Given the description of an element on the screen output the (x, y) to click on. 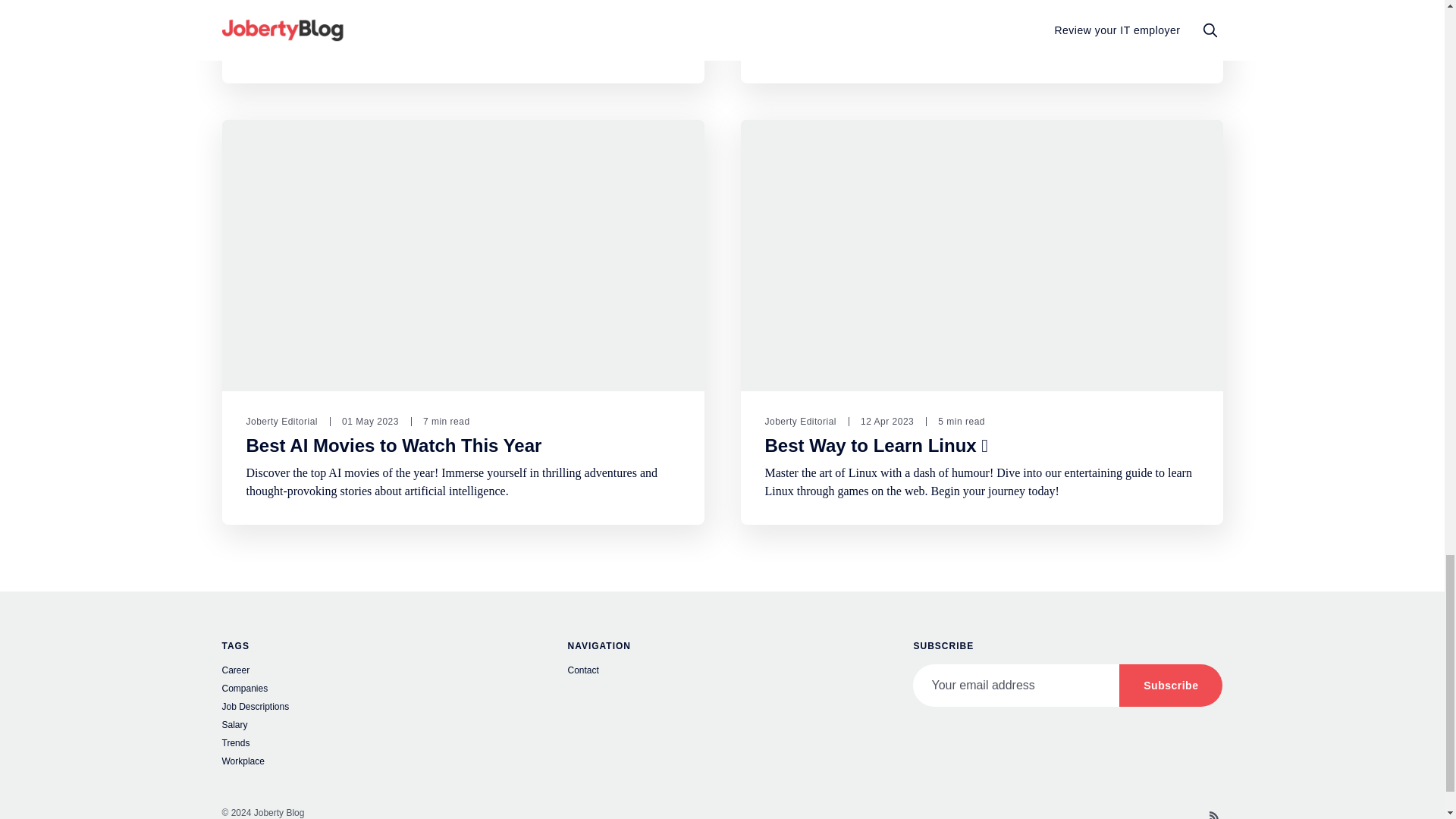
Trends (376, 744)
Contact (721, 671)
Joberty Editorial (281, 421)
Workplace (376, 762)
Companies (376, 689)
Job Descriptions (376, 708)
Best AI Movies to Watch This Year (393, 445)
Salary (376, 726)
Joberty Editorial (799, 421)
Career (376, 671)
